Given the description of an element on the screen output the (x, y) to click on. 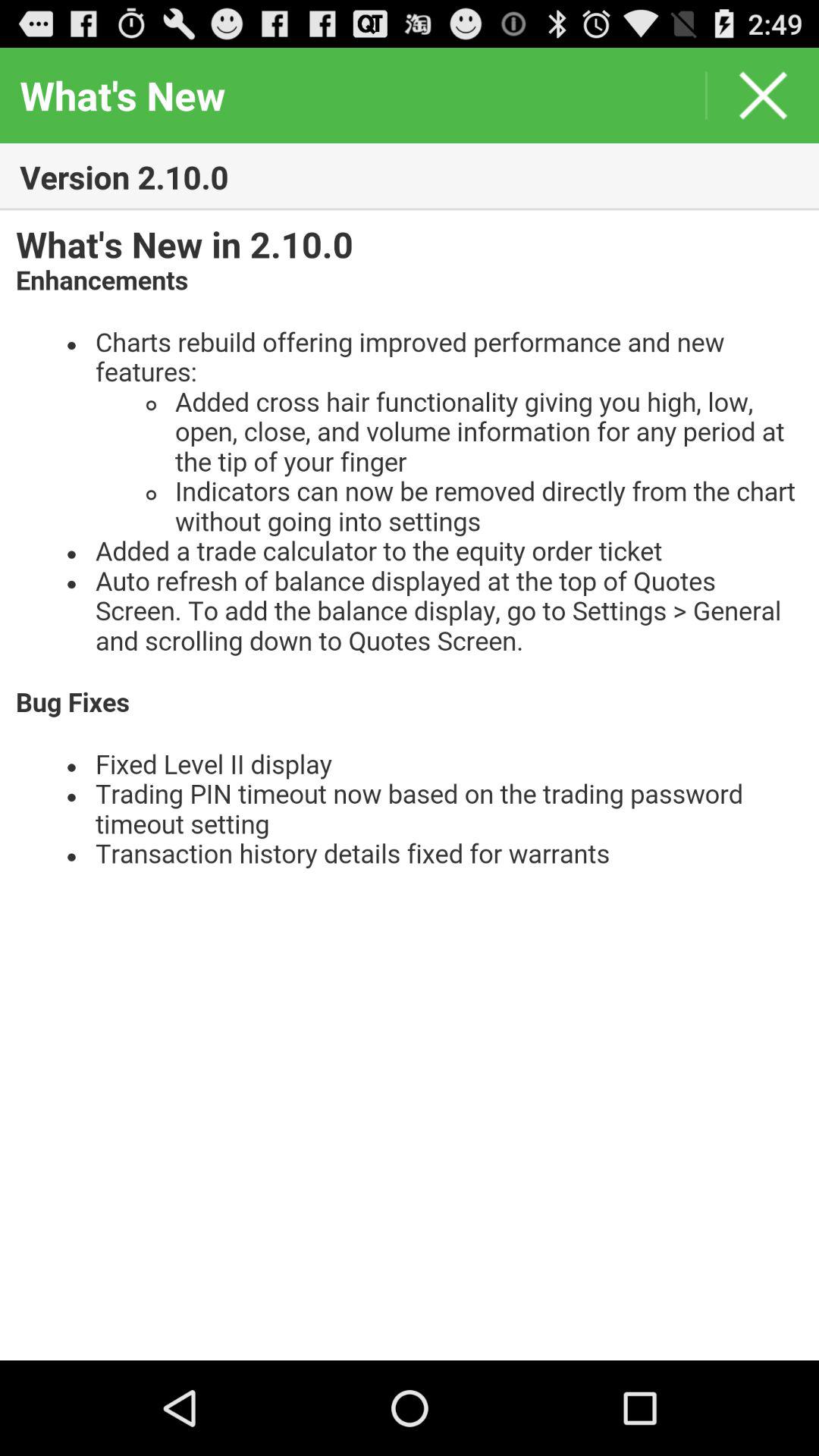
close (763, 95)
